Given the description of an element on the screen output the (x, y) to click on. 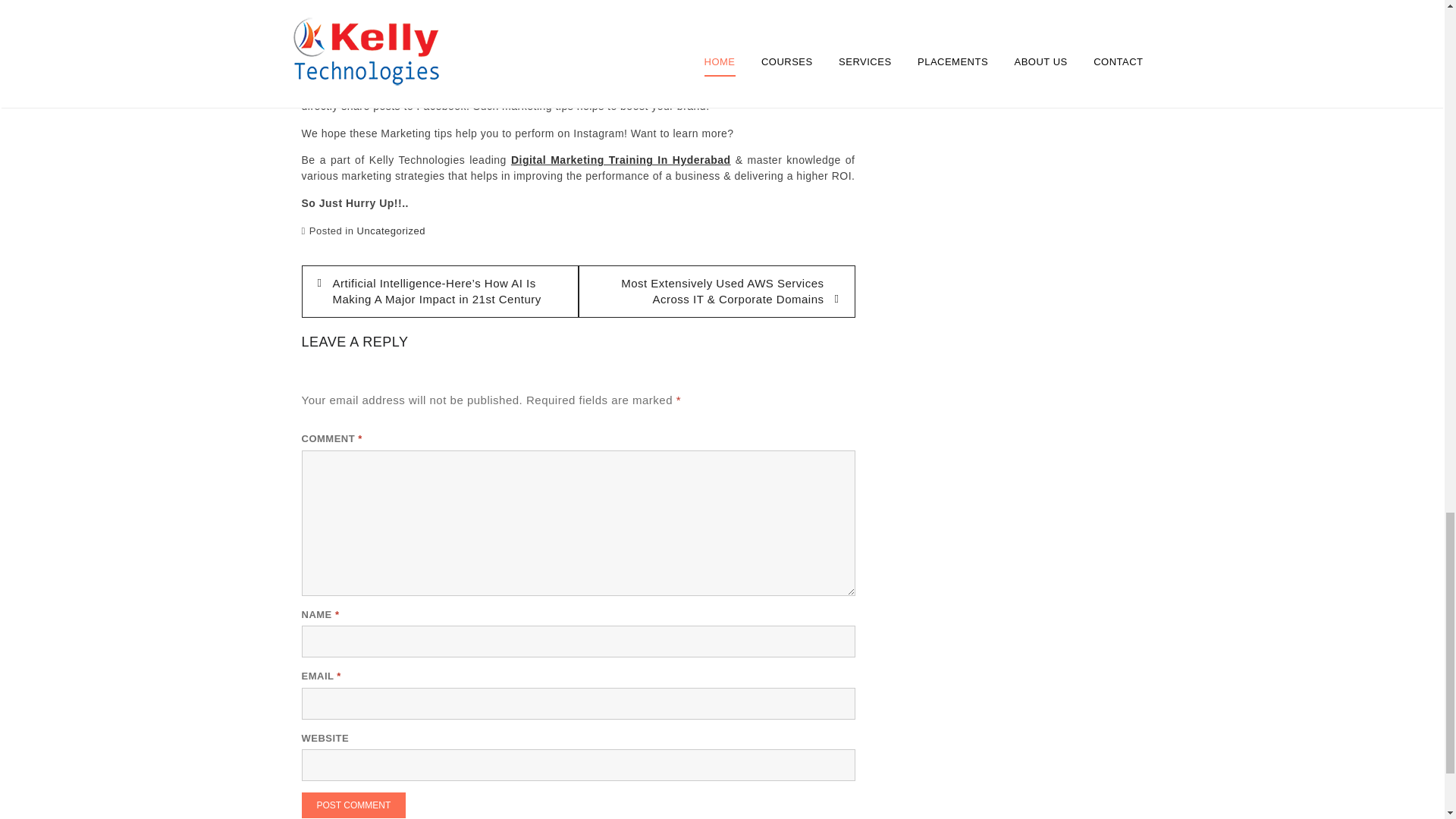
Digital Marketing Training In Hyderabad (620, 159)
Uncategorized (390, 230)
Post Comment (353, 805)
Post Comment (353, 805)
